Given the description of an element on the screen output the (x, y) to click on. 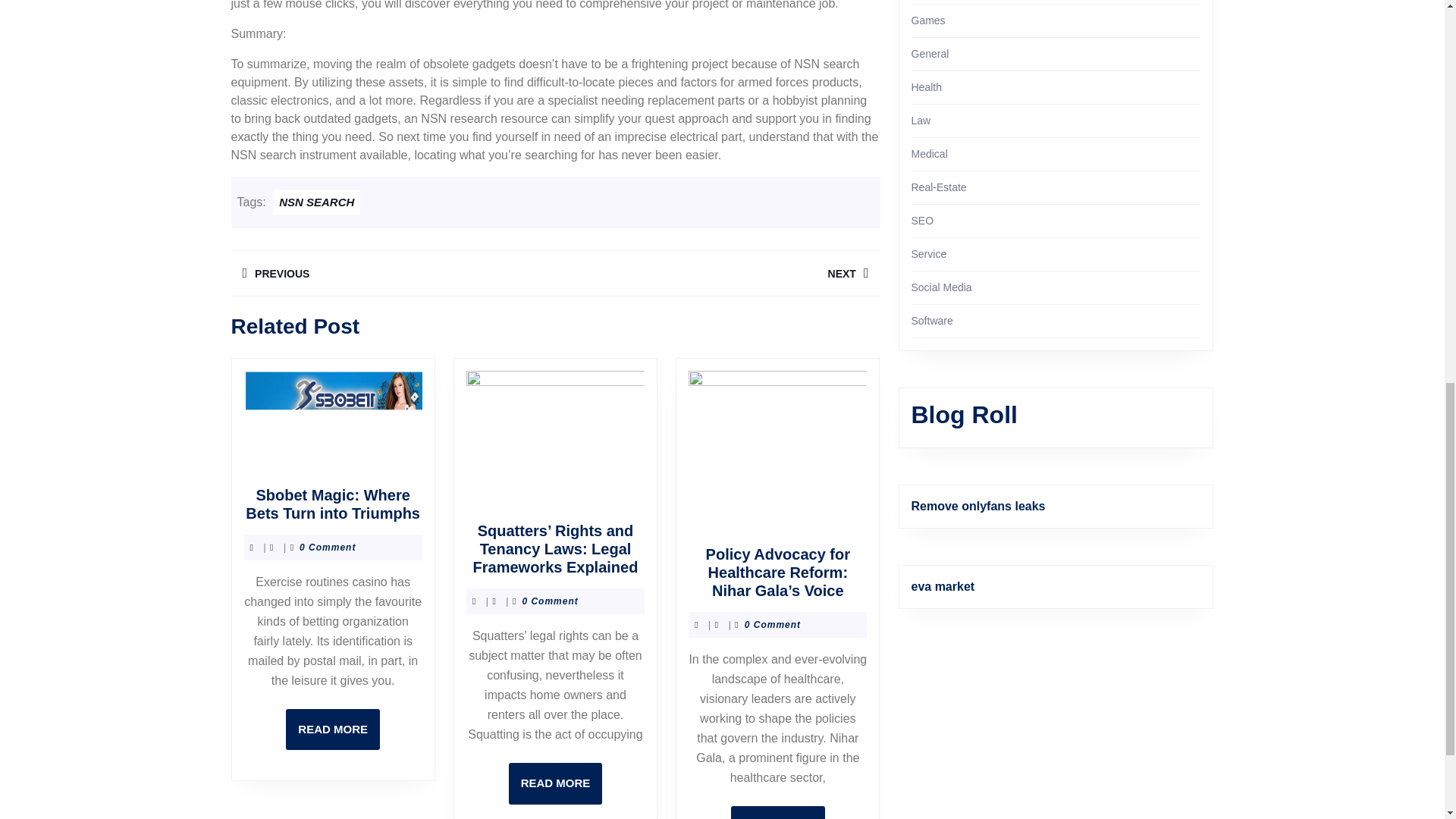
NSN SEARCH (332, 730)
